Given the description of an element on the screen output the (x, y) to click on. 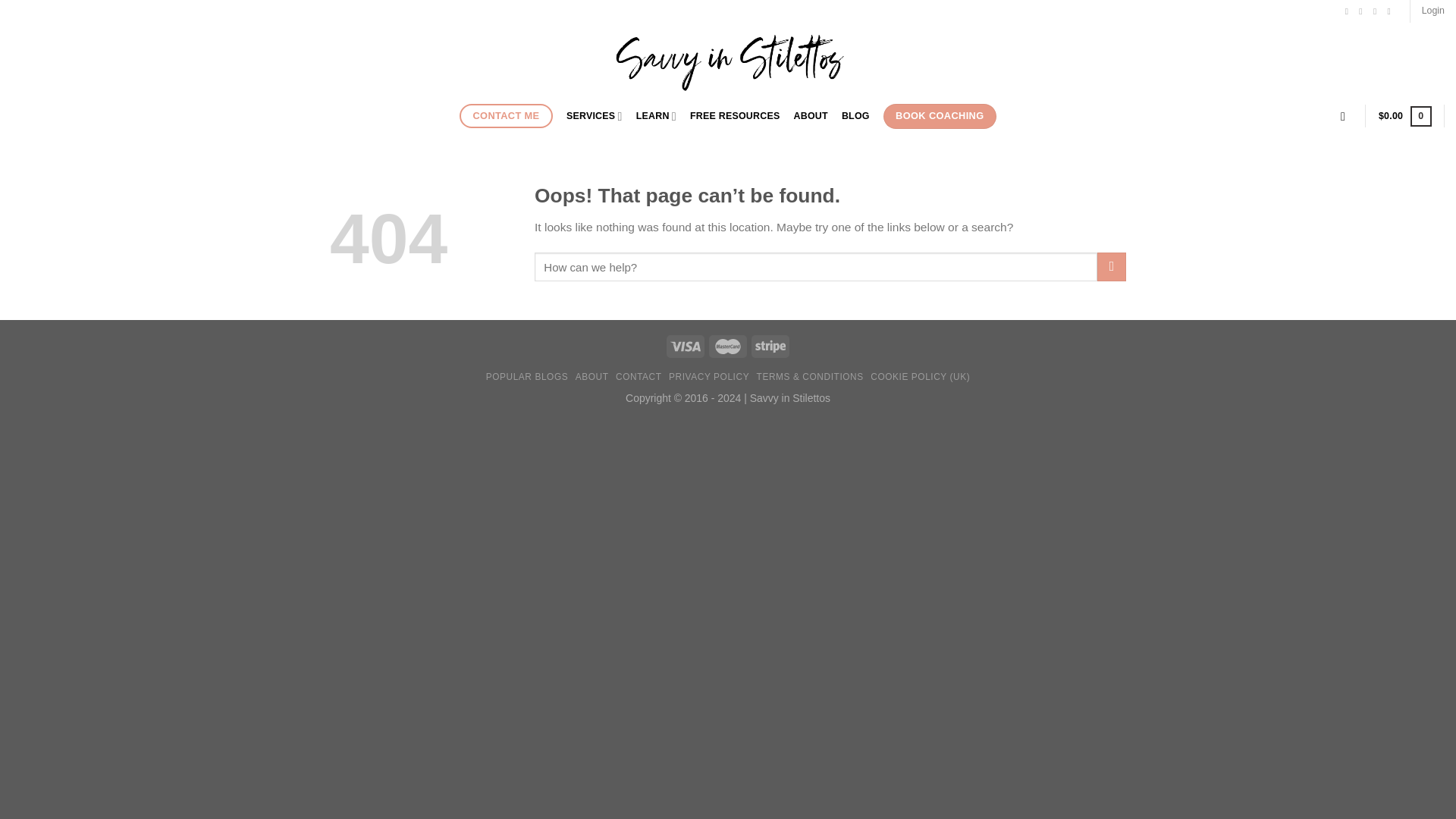
POPULAR BLOGS (527, 376)
SERVICES (594, 115)
Follow on Facebook (1349, 10)
ABOUT (810, 115)
PRIVACY POLICY (708, 376)
Follow on Twitter (1377, 10)
Cart (1404, 116)
CONTACT (638, 376)
Follow on Instagram (1363, 10)
